Given the description of an element on the screen output the (x, y) to click on. 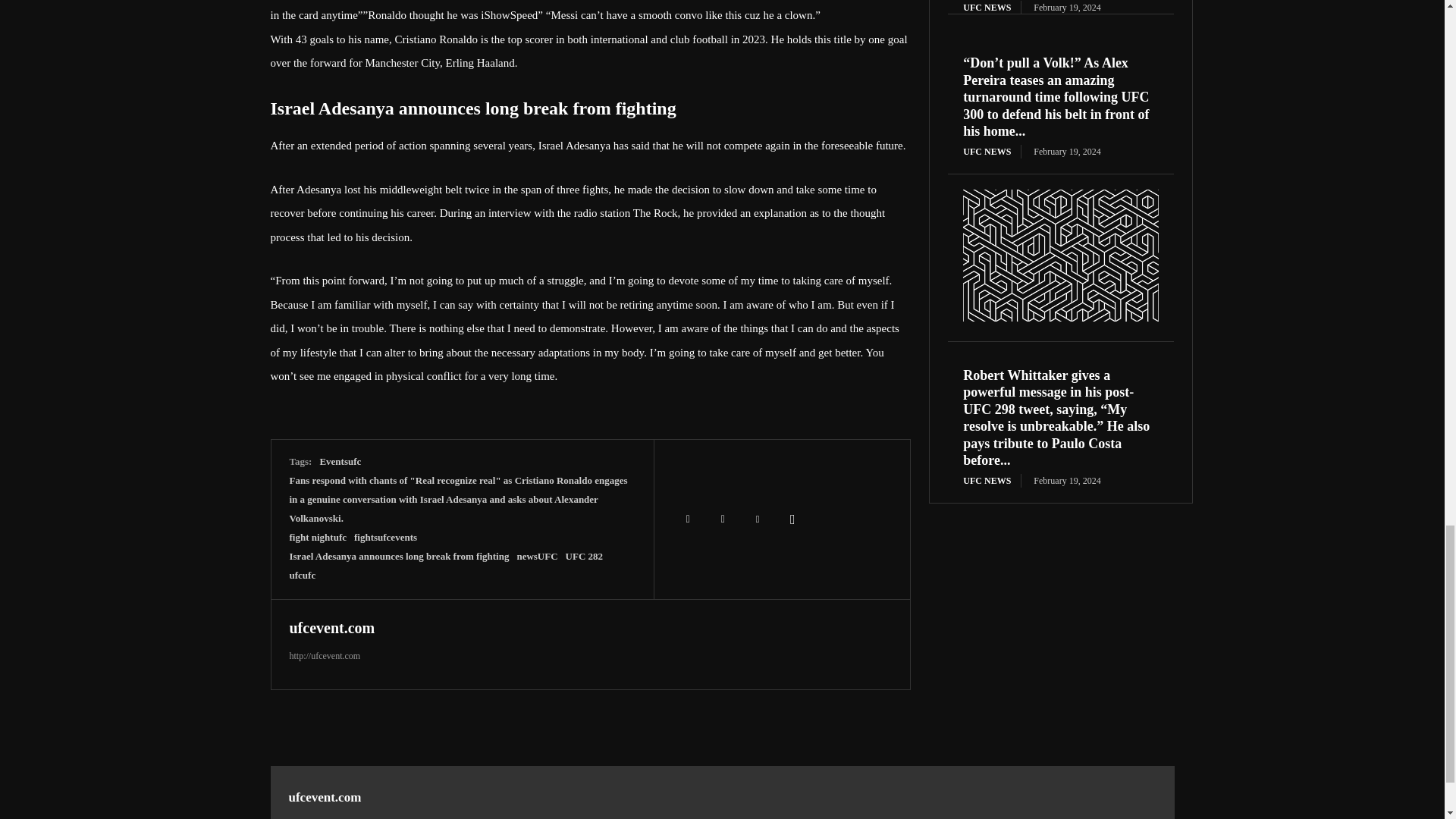
Facebook (687, 518)
Twitter (722, 518)
Pinterest (757, 518)
